Given the description of an element on the screen output the (x, y) to click on. 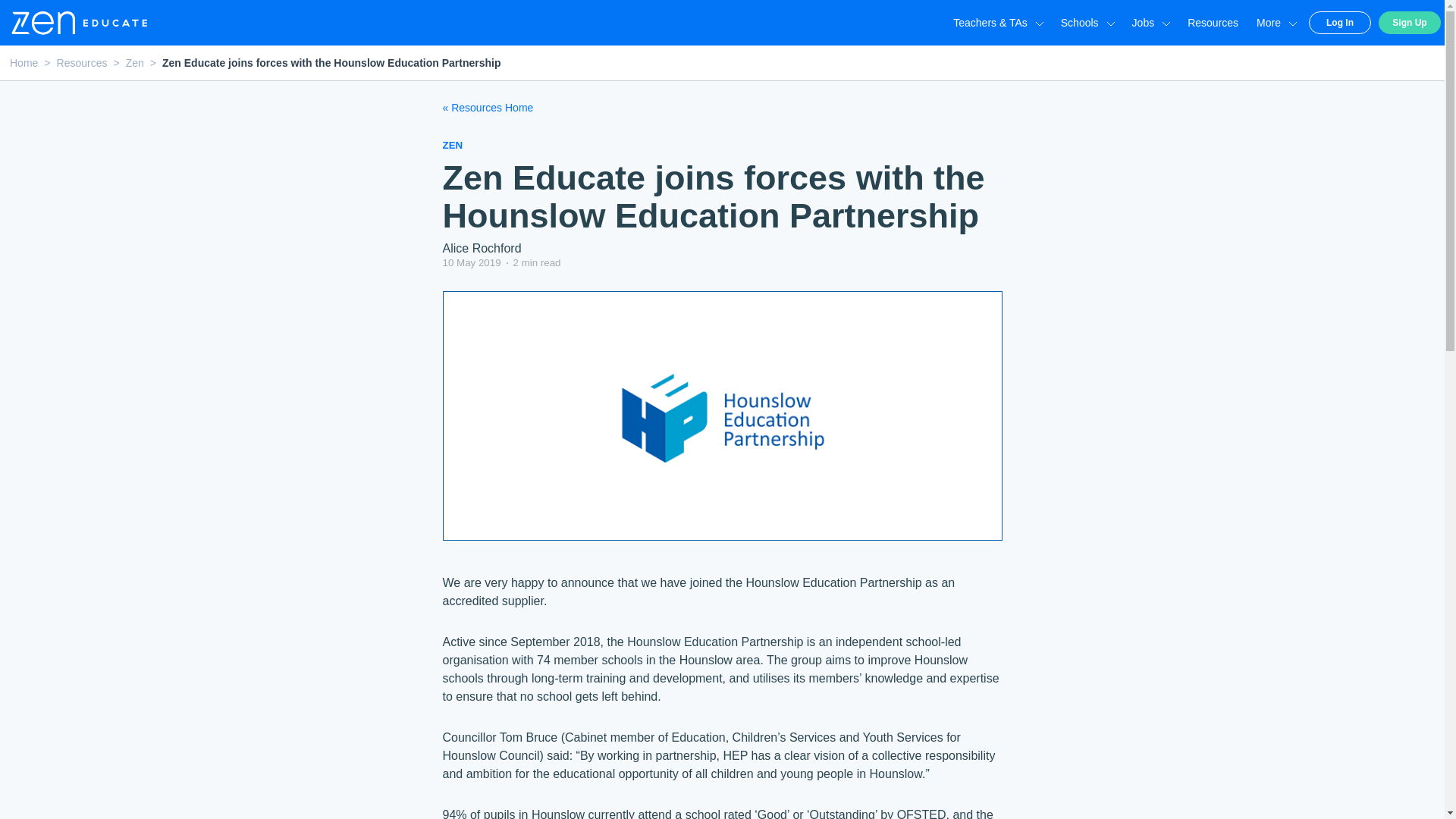
More (1275, 22)
Resources (81, 62)
Resources (1212, 22)
ZEN (452, 144)
Sign Up (1409, 22)
Home (23, 62)
Zen (134, 62)
Jobs (1150, 22)
Log In (1339, 22)
Schools (1086, 22)
